Given the description of an element on the screen output the (x, y) to click on. 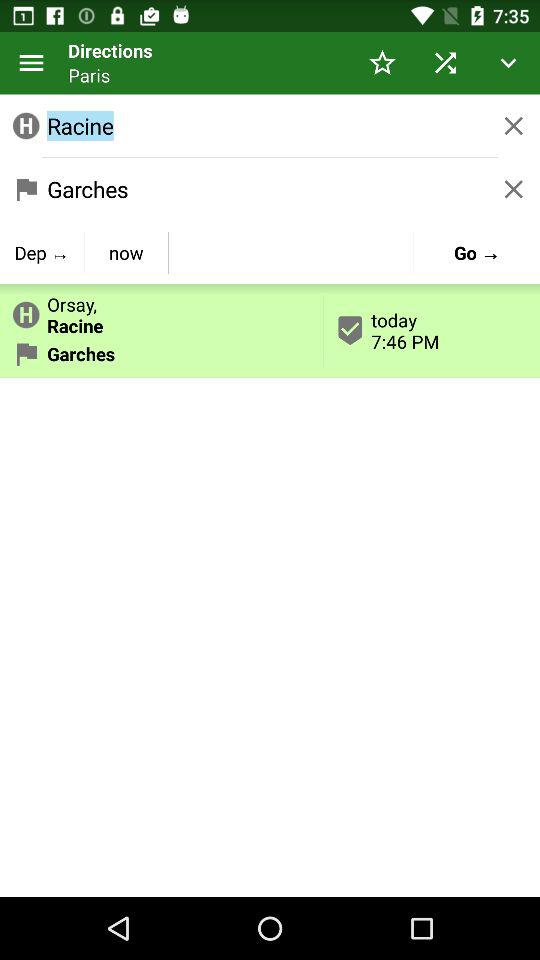
choose item next to today 7 46 item (161, 311)
